Given the description of an element on the screen output the (x, y) to click on. 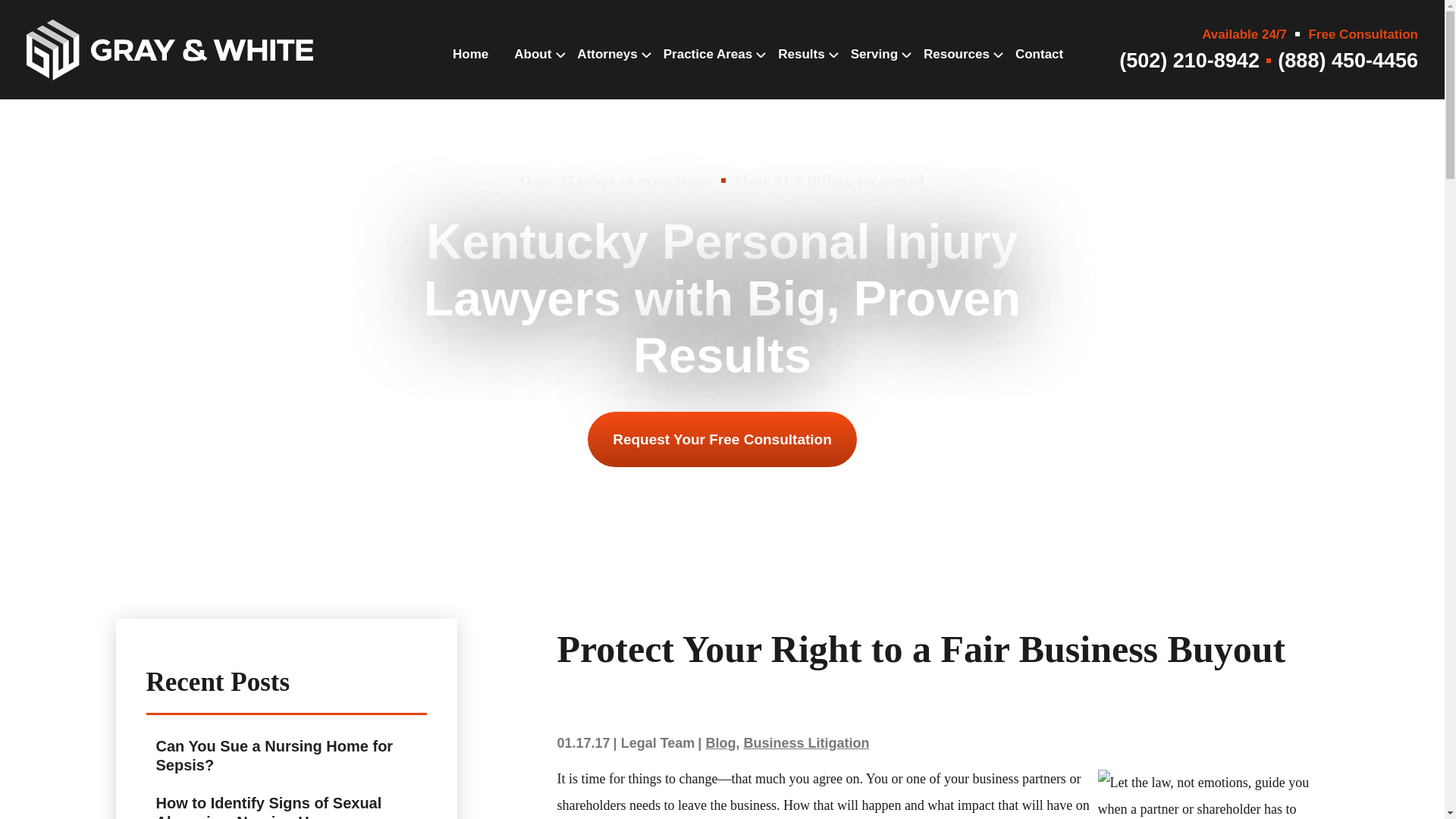
Attorneys (606, 68)
Results (800, 68)
Practice Areas (707, 68)
Serving (874, 68)
Resources (956, 68)
